Given the description of an element on the screen output the (x, y) to click on. 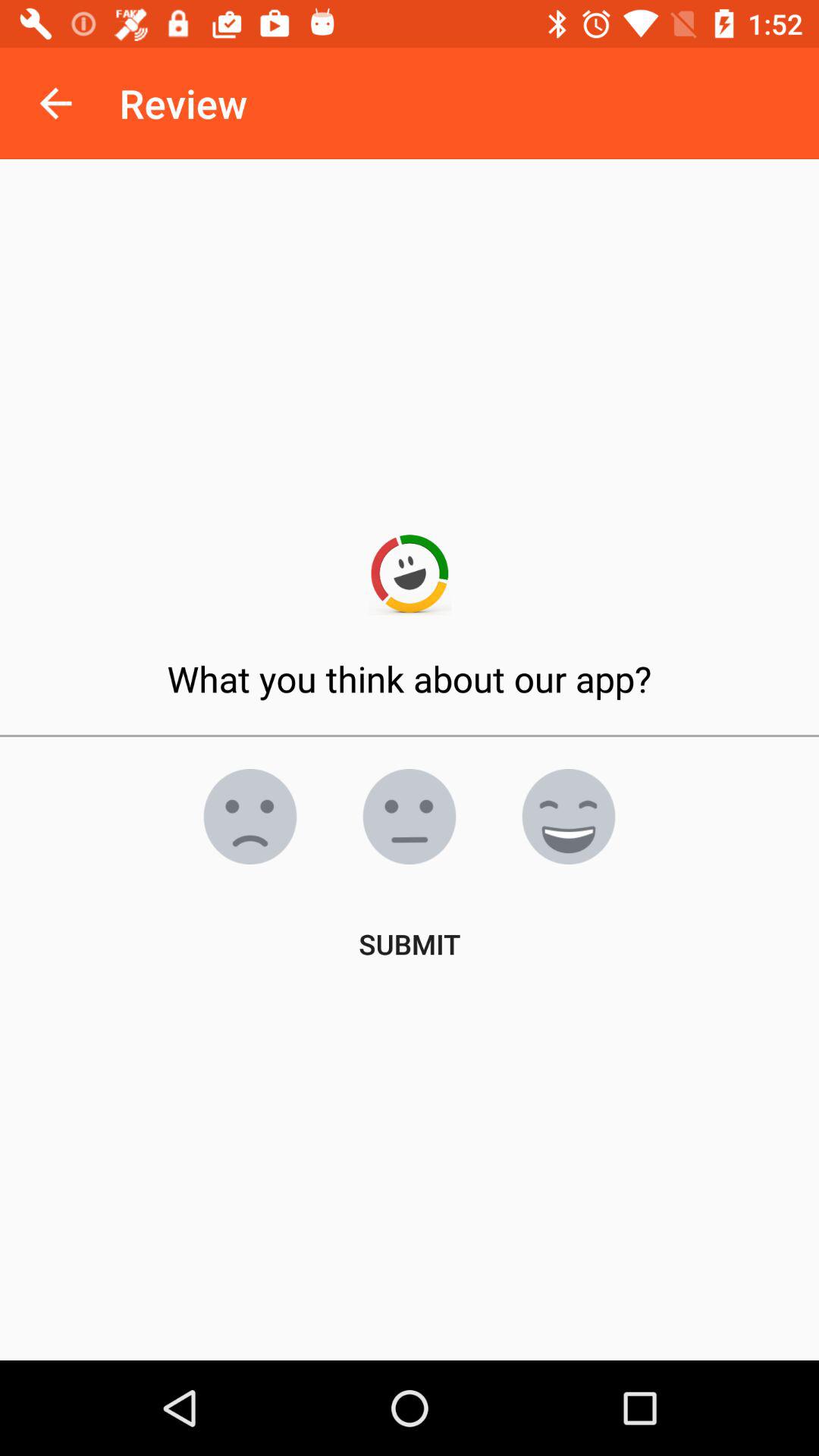
pick neutral option (409, 816)
